Given the description of an element on the screen output the (x, y) to click on. 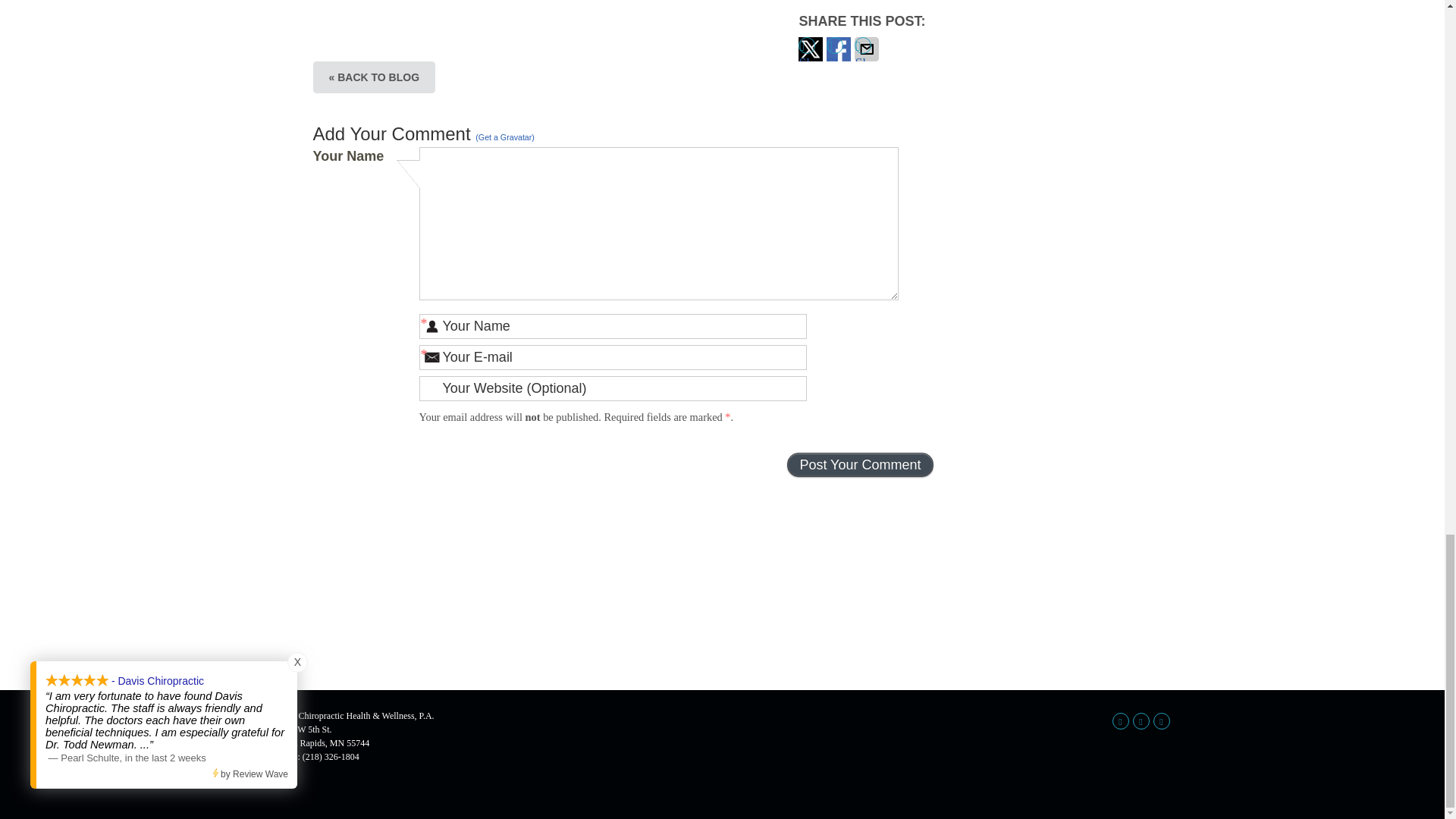
Your Name (612, 326)
Post Your Comment (860, 464)
Your Name (612, 326)
Your E-mail (612, 357)
Share on Twitter (809, 48)
Your E-mail (612, 357)
Share via Email (866, 48)
Share on Facebook (838, 48)
